Given the description of an element on the screen output the (x, y) to click on. 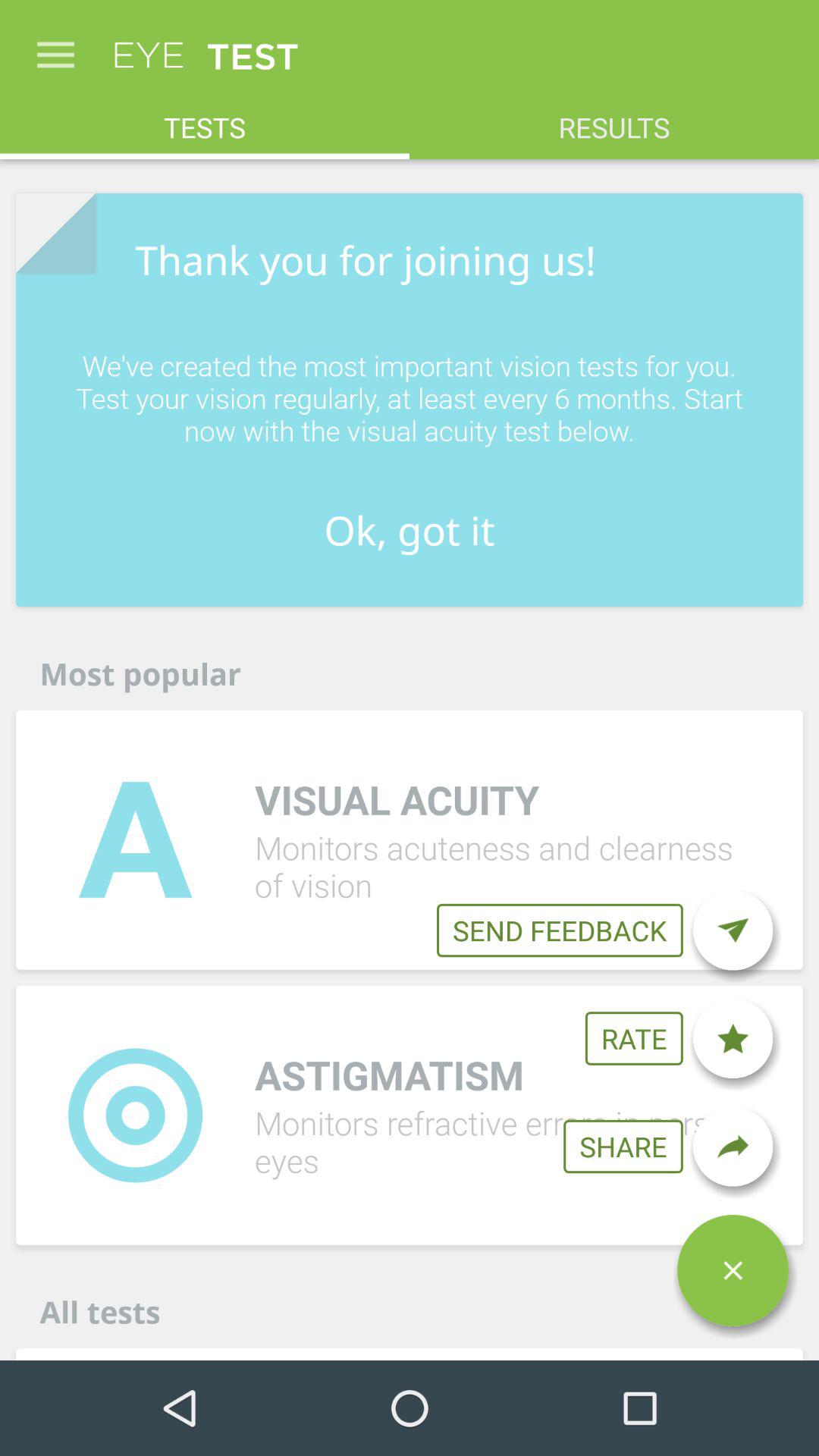
turn off the results (614, 119)
